Given the description of an element on the screen output the (x, y) to click on. 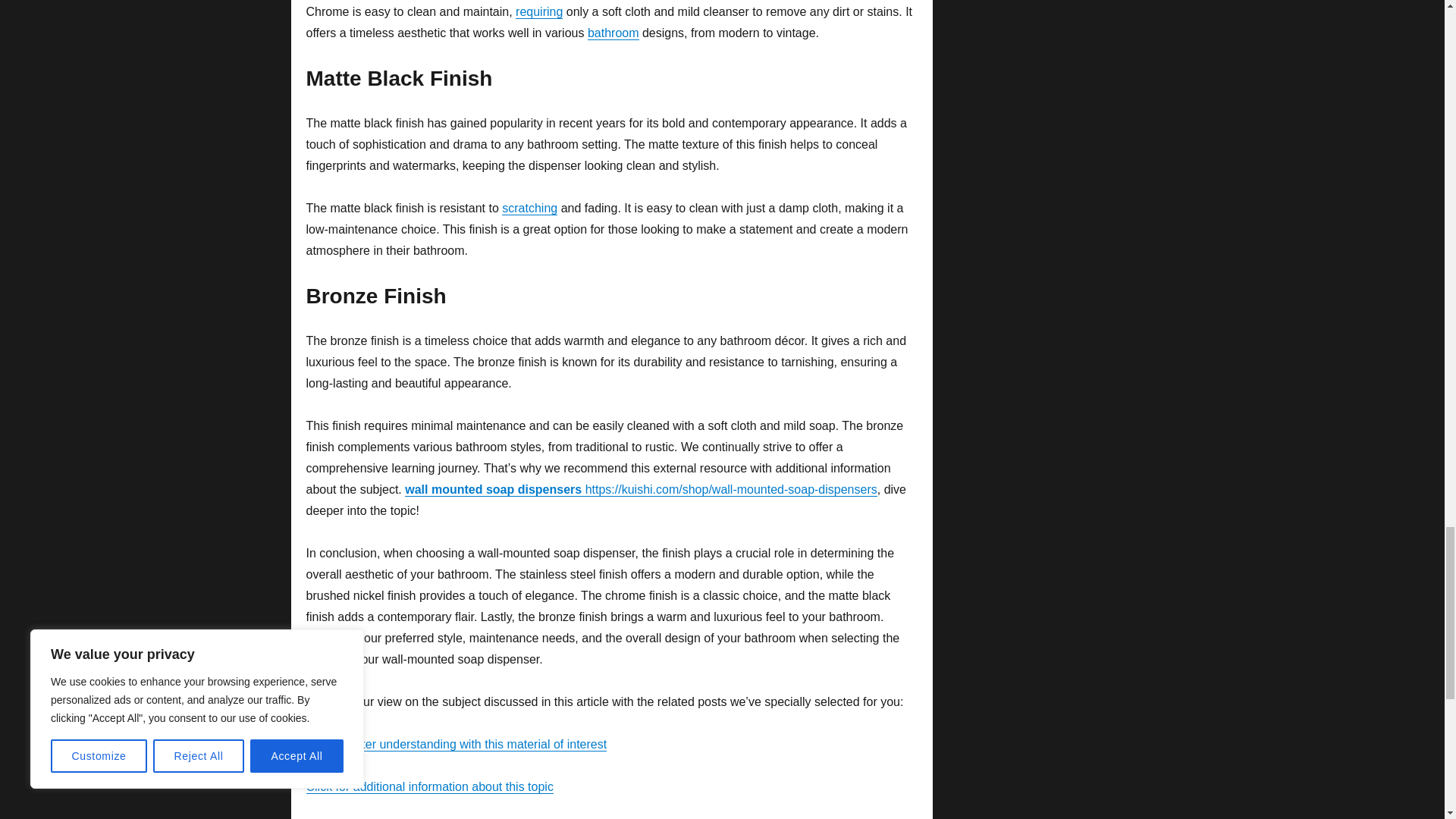
Click for additional information about this topic (429, 786)
requiring (538, 11)
bathroom (613, 32)
scratching (529, 207)
Gain a better understanding with this material of interest (456, 744)
